Given the description of an element on the screen output the (x, y) to click on. 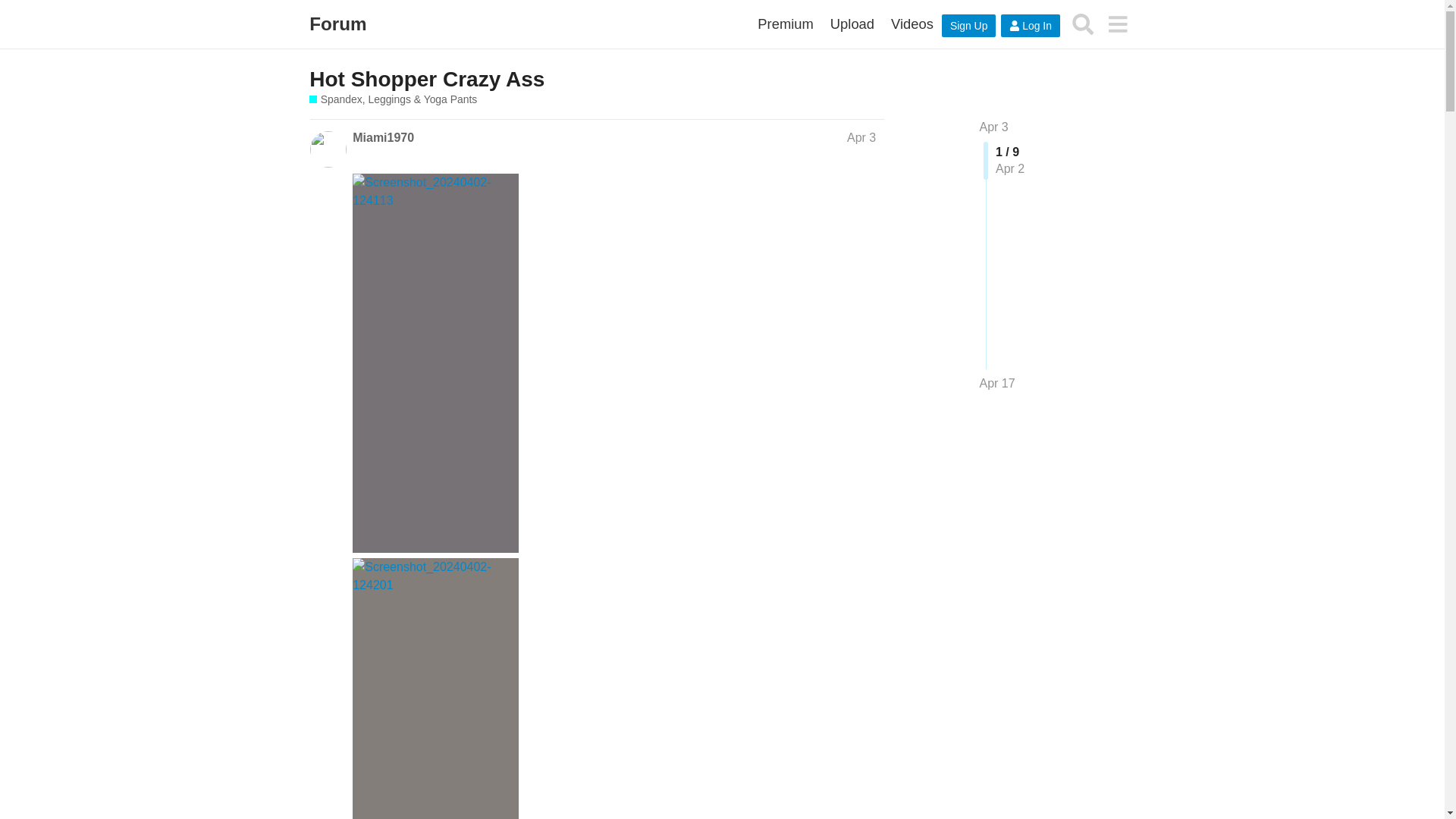
video section (912, 23)
Upload (852, 23)
Videos (912, 23)
upload video (852, 23)
Miami1970 (382, 137)
Forum (337, 23)
Apr 3 (861, 137)
Jump to the last post (996, 382)
Apr 17 (996, 383)
menu (1117, 23)
Hot Shopper Crazy Ass (426, 78)
Sign Up (968, 25)
Search (1082, 23)
premium access (785, 23)
Premium (785, 23)
